Given the description of an element on the screen output the (x, y) to click on. 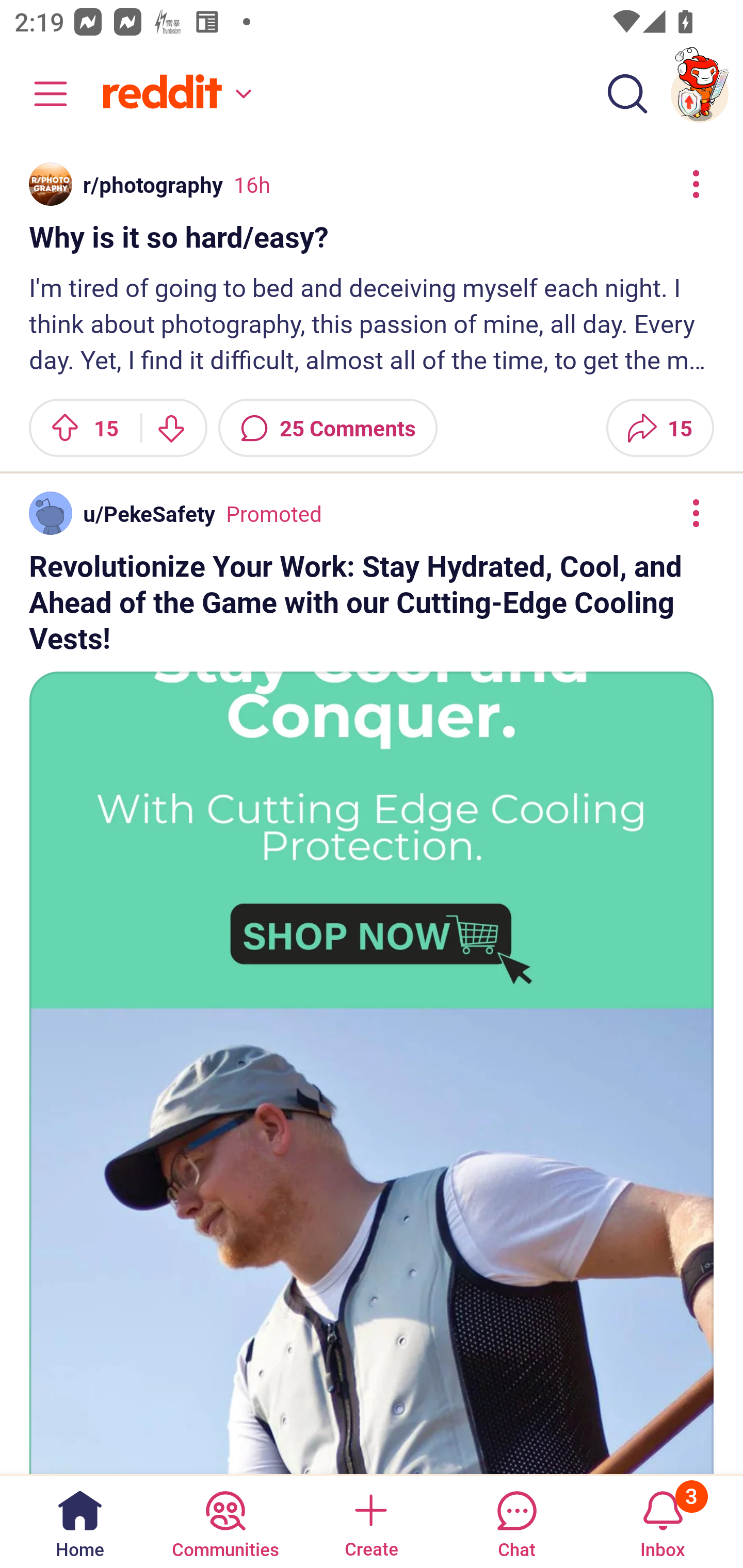
Search (626, 93)
TestAppium002 account (699, 93)
Community menu (41, 94)
Home feed (173, 94)
Home (80, 1520)
Communities (225, 1520)
Create a post Create (370, 1520)
Chat (516, 1520)
Inbox, has 3 notifications 3 Inbox (662, 1520)
